Given the description of an element on the screen output the (x, y) to click on. 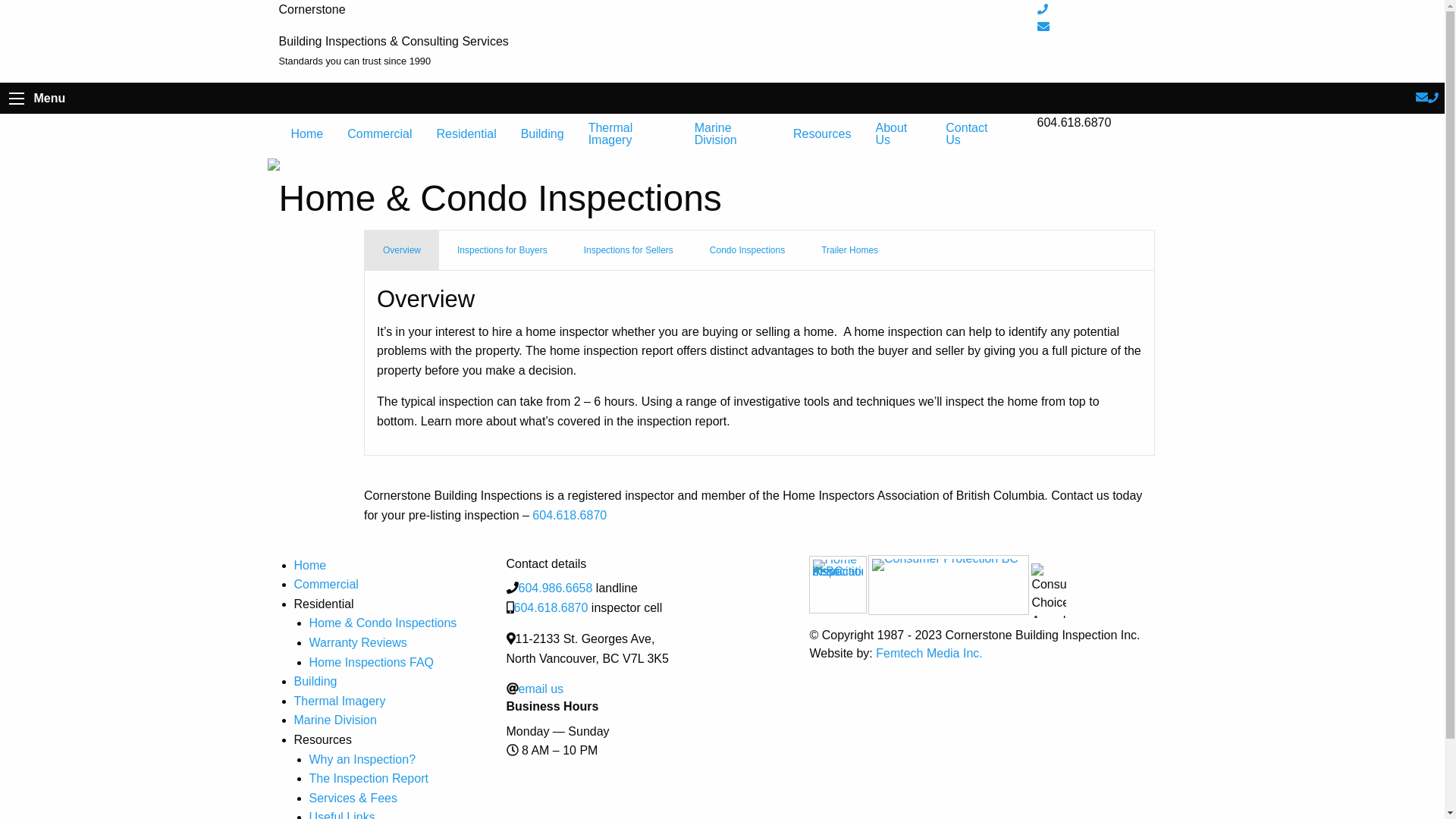
email us Element type: text (541, 688)
Warranty Reviews Element type: text (358, 642)
Trailer Homes Element type: text (849, 249)
Home & Condo Inspections Element type: text (383, 622)
Commercial Element type: text (379, 133)
Contact Us Element type: text (973, 133)
Home Element type: text (310, 564)
Home Element type: text (307, 133)
Marine Division Element type: text (335, 719)
About Us Element type: text (897, 133)
contact us to book an appointment Element type: hover (1043, 26)
Why an Inspection? Element type: text (362, 759)
Services & Fees Element type: text (353, 797)
Inspections for Sellers Element type: text (628, 249)
Femtech Media Inc. Element type: text (928, 652)
Residential Element type: text (466, 133)
Thermal Imagery Element type: text (339, 700)
604.618.6870 Element type: text (551, 607)
Inspections for Buyers Element type: text (502, 249)
Consumer Protection BC Element type: hover (948, 584)
604.618.6870 Element type: text (569, 514)
604.986.6658 Element type: text (555, 587)
Overview Element type: text (401, 249)
Condo Inspections Element type: text (747, 249)
Home Inspections FAQ Element type: text (371, 661)
The Inspection Report Element type: text (368, 777)
Resources Element type: text (821, 133)
Building Element type: text (542, 133)
Commercial Element type: text (326, 583)
call our office today Element type: hover (1042, 8)
Building Element type: text (315, 680)
Home Inspection Association of BC Element type: hover (837, 584)
Marine Division Element type: text (731, 133)
Thermal Imagery Element type: text (629, 133)
call our inspector today Element type: hover (1432, 97)
contact us to book an appointment Element type: hover (1421, 97)
